Given the description of an element on the screen output the (x, y) to click on. 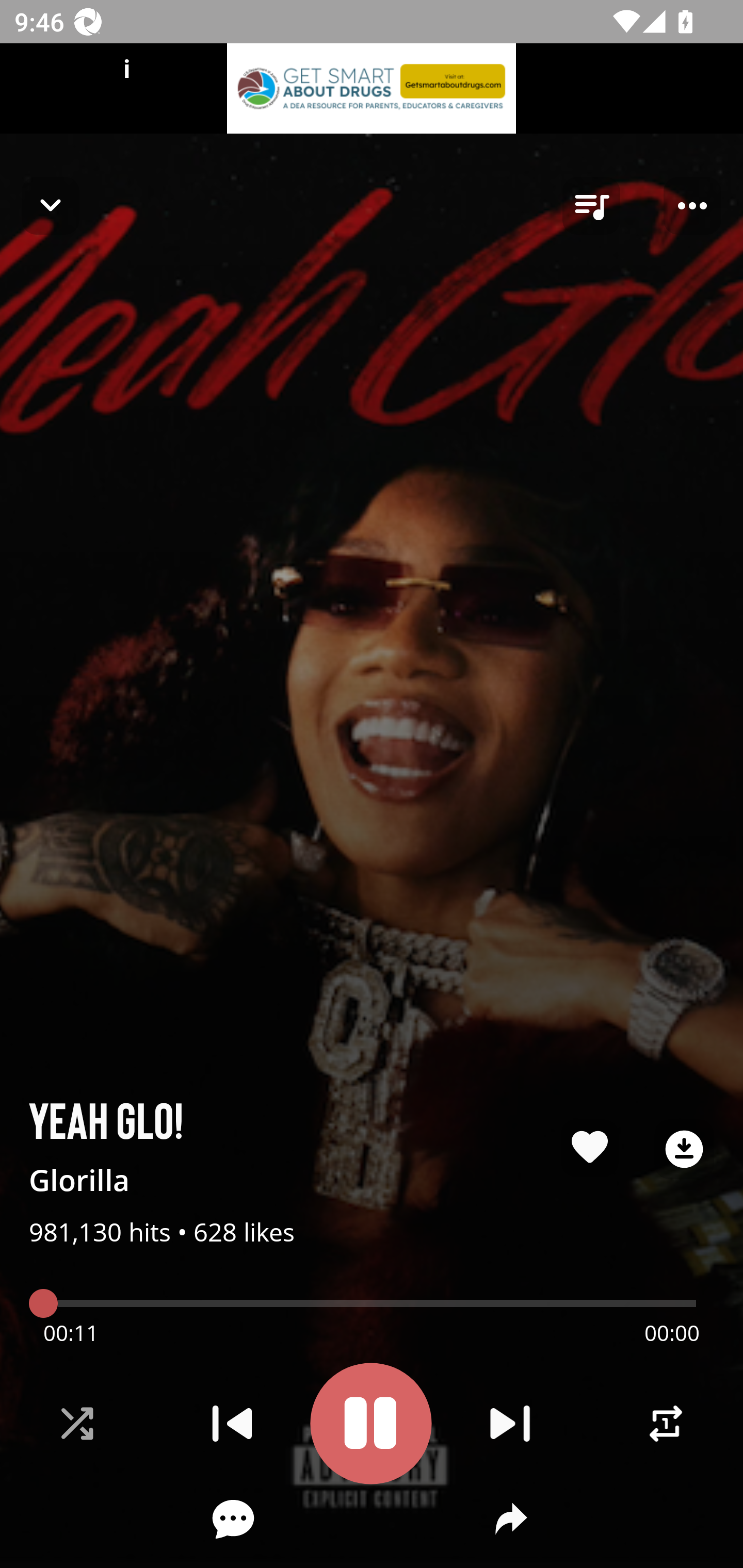
Navigate up (50, 205)
queue (590, 206)
Player options (692, 206)
